Given the description of an element on the screen output the (x, y) to click on. 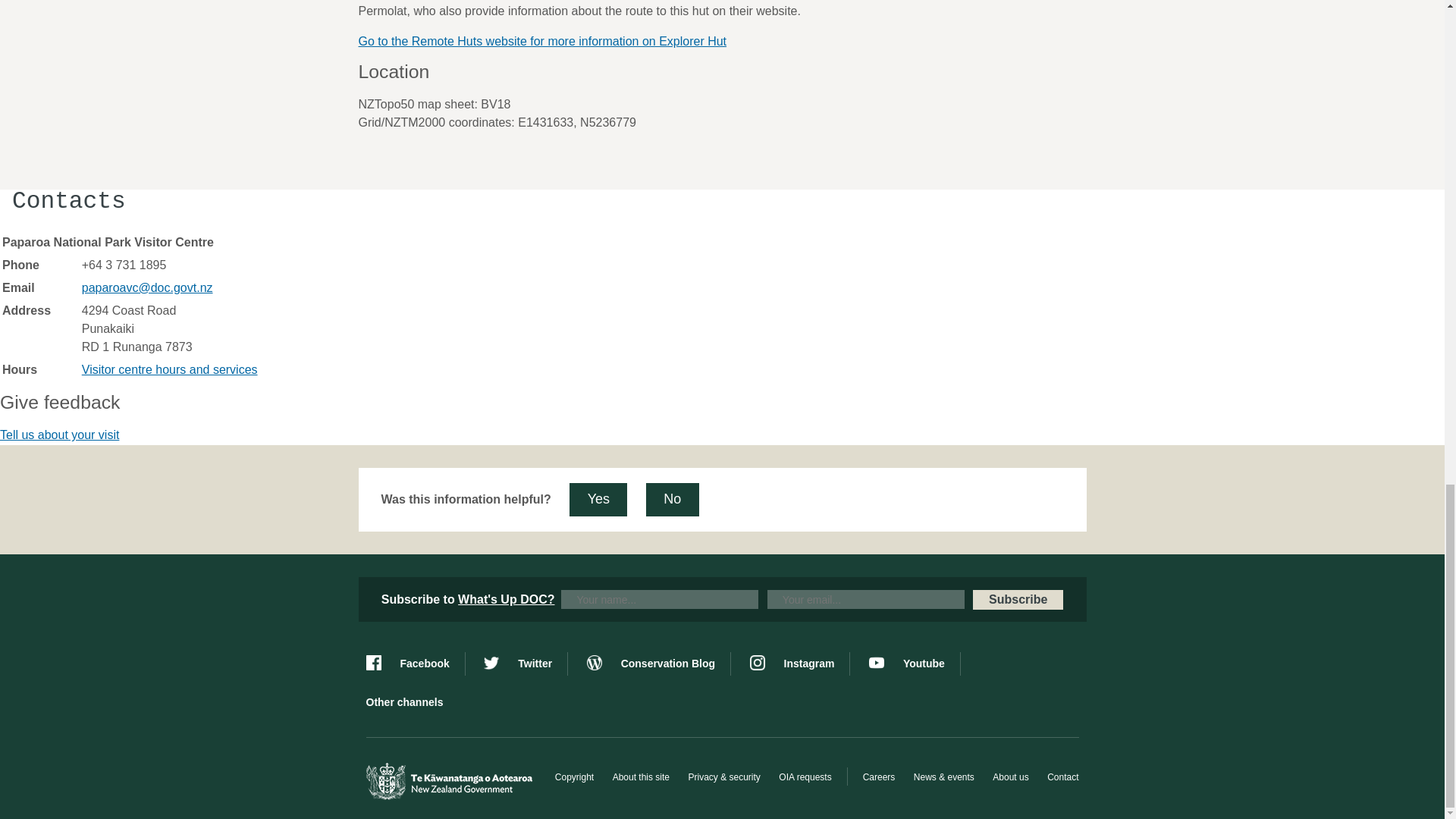
External site link (732, 44)
blog (658, 663)
facebook (414, 663)
instagram (799, 663)
twitter (525, 663)
Subscribe (1017, 599)
youtube (914, 663)
